Given the description of an element on the screen output the (x, y) to click on. 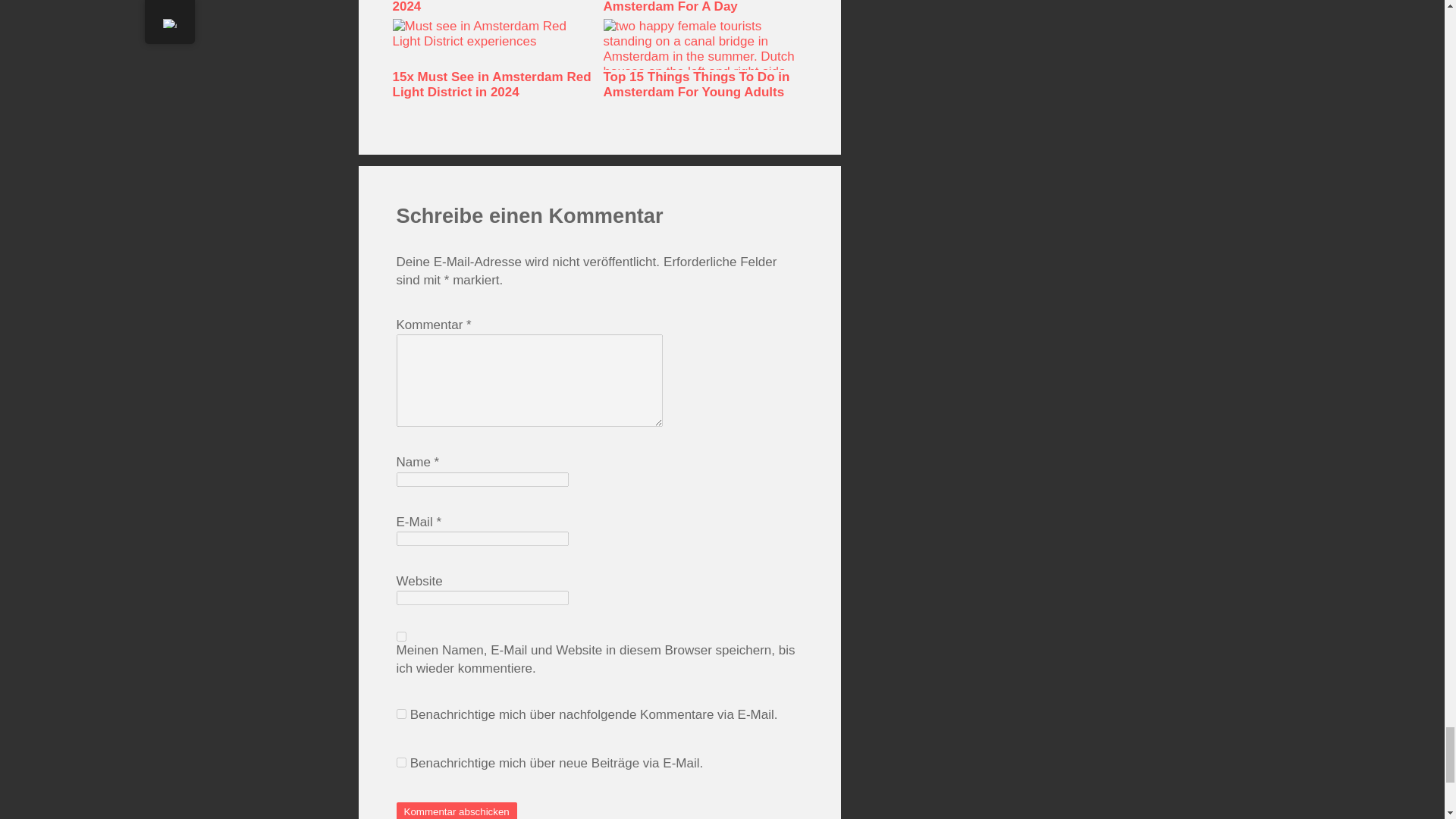
yes (401, 636)
Kommentar abschicken (456, 810)
subscribe (401, 762)
subscribe (401, 714)
